Given the description of an element on the screen output the (x, y) to click on. 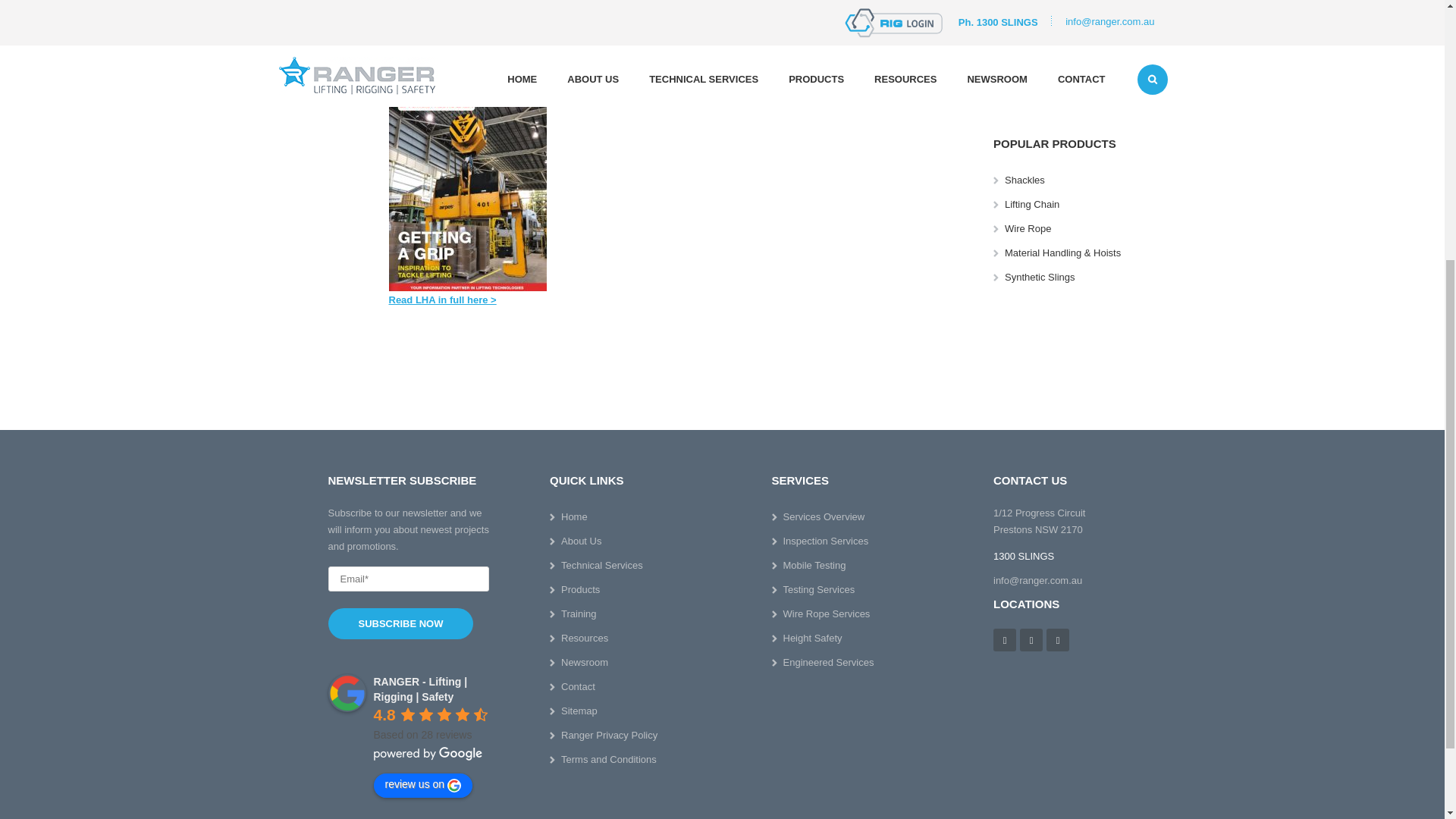
Subscribe Now (400, 623)
